Given the description of an element on the screen output the (x, y) to click on. 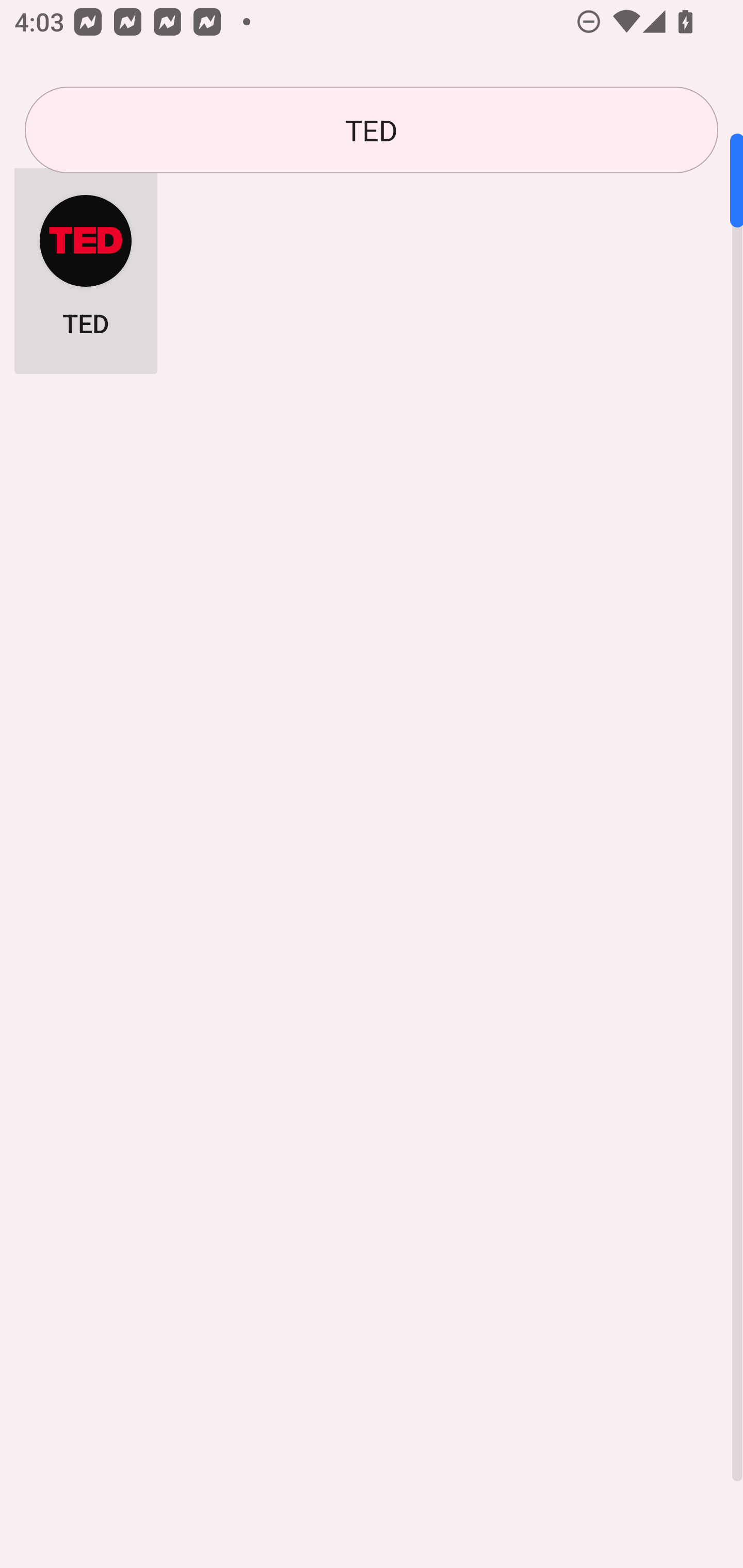
TED (371, 130)
TED (85, 264)
